Given the description of an element on the screen output the (x, y) to click on. 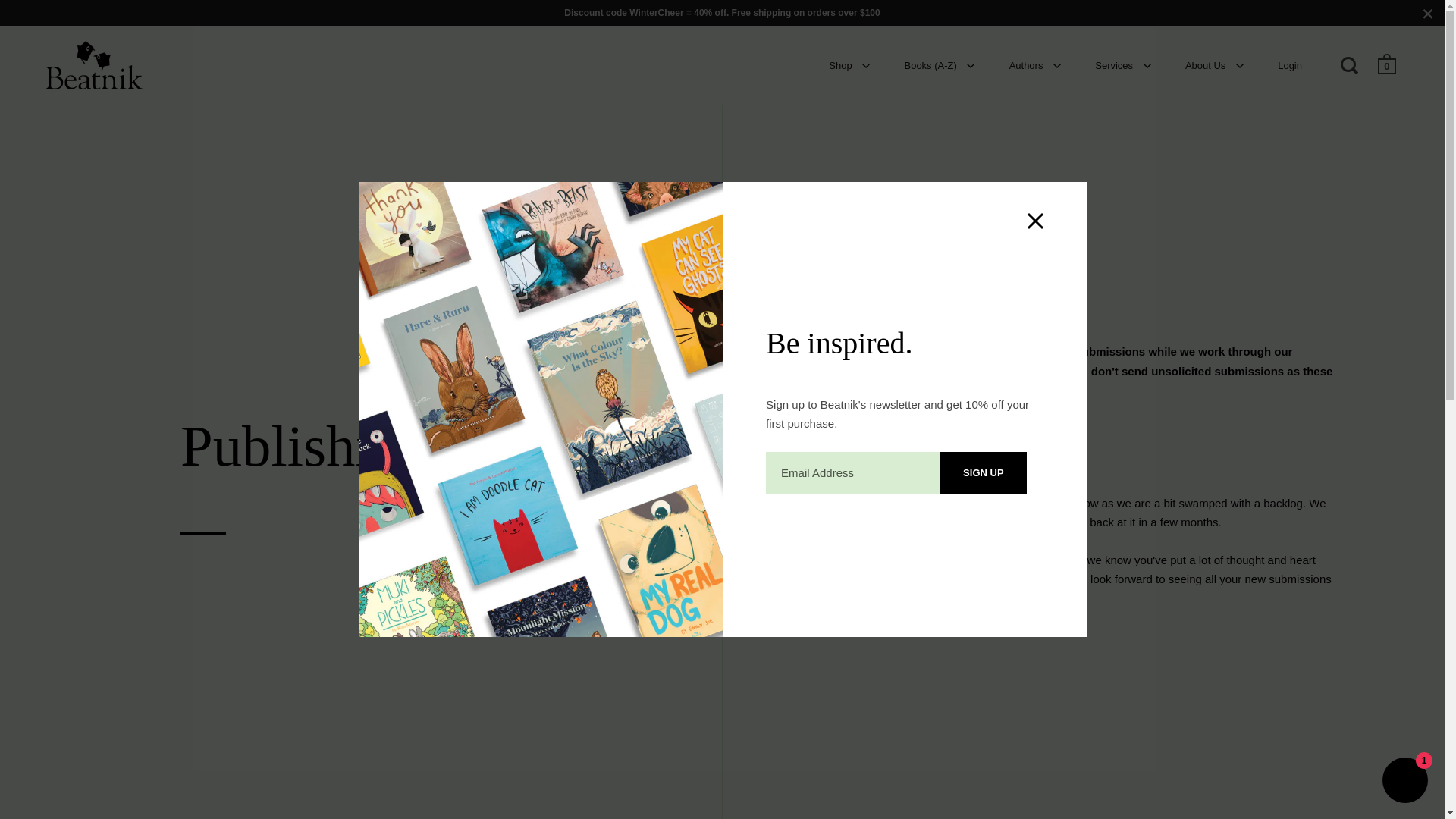
Shopify online store chat (1404, 781)
Shop (849, 64)
Open cart (1387, 63)
Open search (1350, 64)
